Given the description of an element on the screen output the (x, y) to click on. 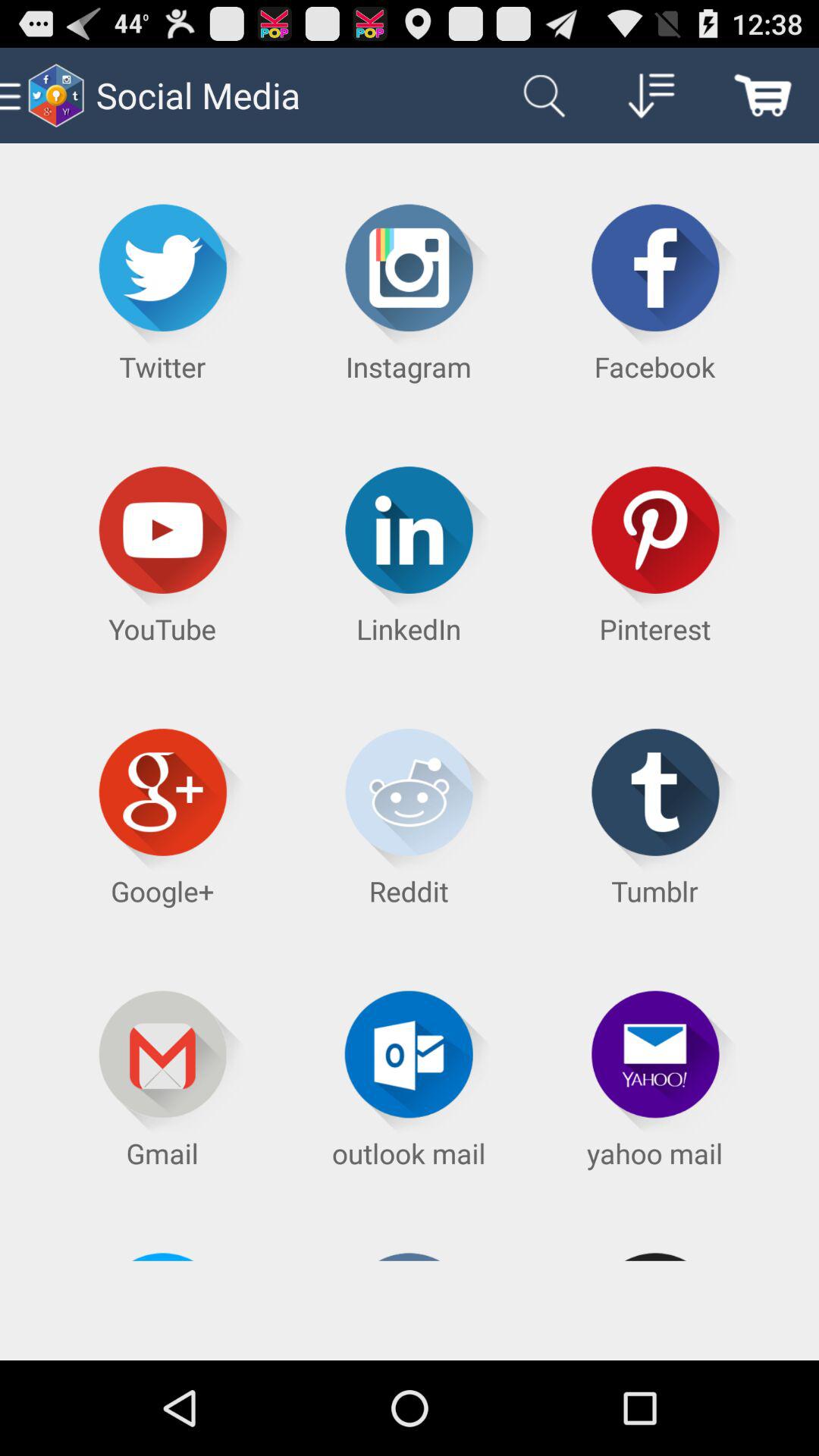
launch app next to social media item (540, 95)
